Given the description of an element on the screen output the (x, y) to click on. 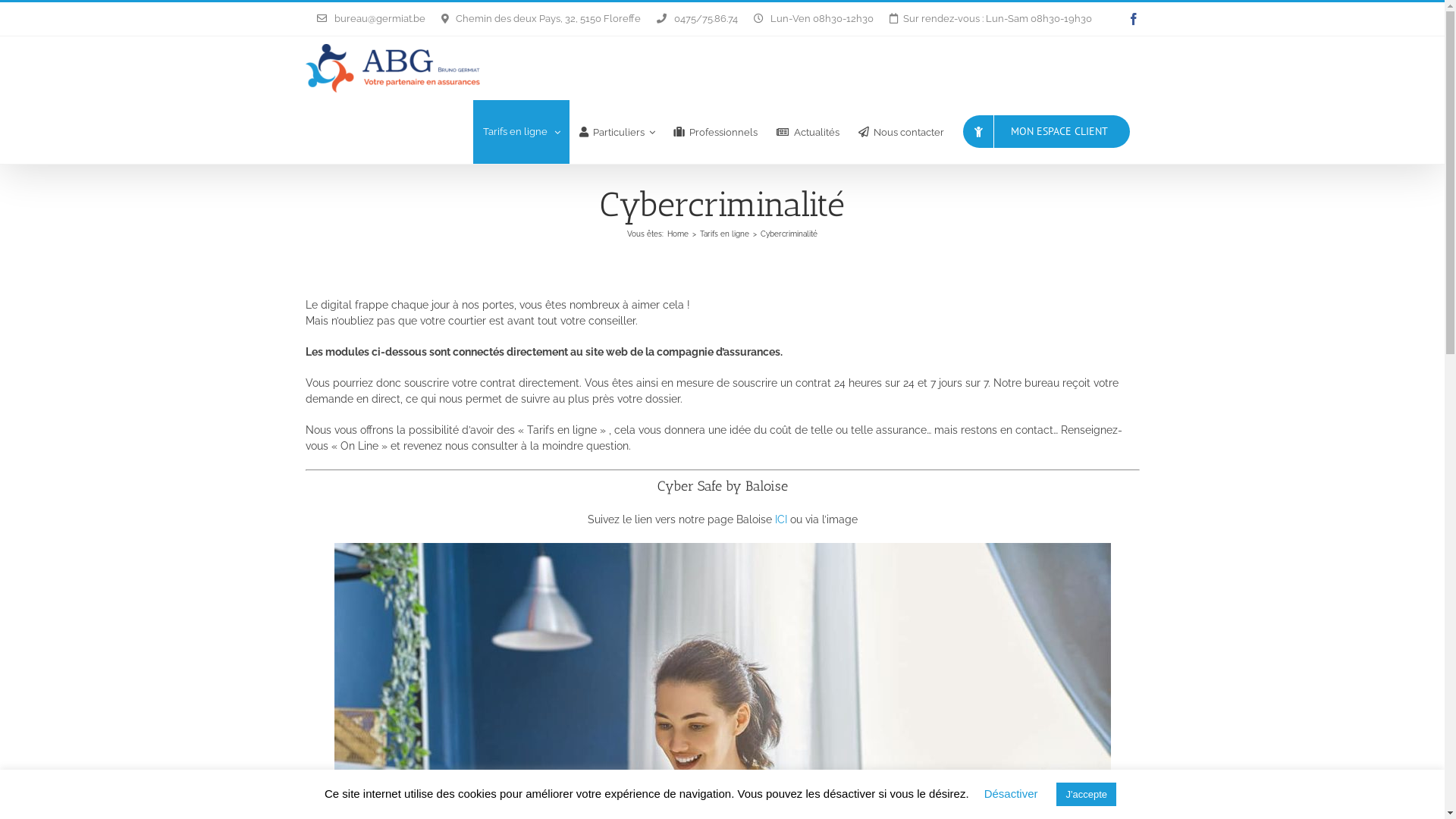
Particuliers Element type: text (616, 131)
Tarifs en ligne Element type: text (521, 131)
MON ESPACE CLIENT Element type: text (1046, 131)
Nous contacter Element type: text (900, 131)
Home Element type: text (677, 233)
Tarifs en ligne Element type: text (724, 233)
J'accepte Element type: text (1086, 794)
ICI Element type: text (781, 519)
Professionnels Element type: text (716, 131)
Facebook Element type: text (1132, 18)
